Given the description of an element on the screen output the (x, y) to click on. 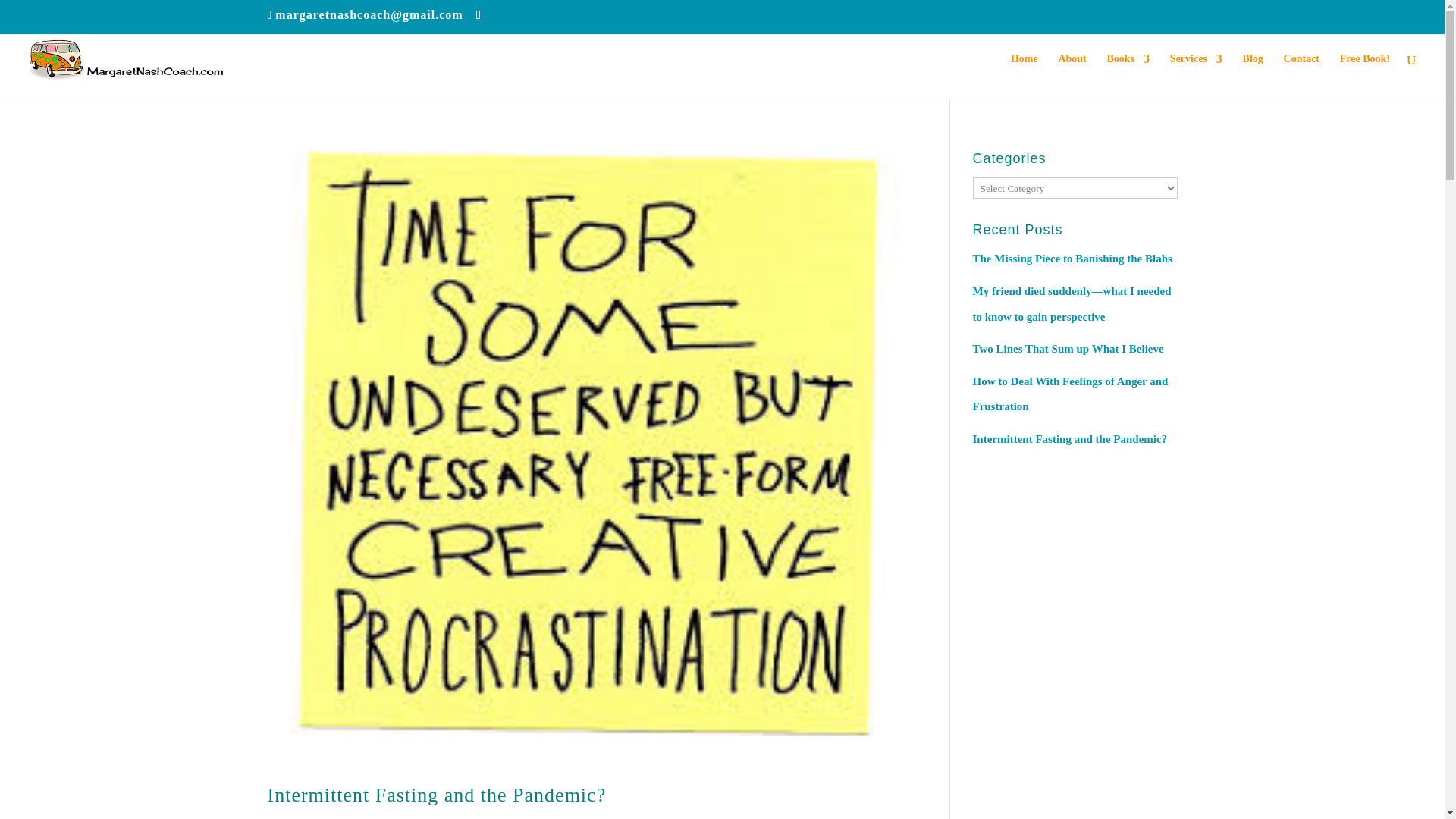
Free Book! (1364, 74)
Intermittent Fasting and the Pandemic? (435, 794)
Services (1196, 74)
Books (1128, 74)
